Given the description of an element on the screen output the (x, y) to click on. 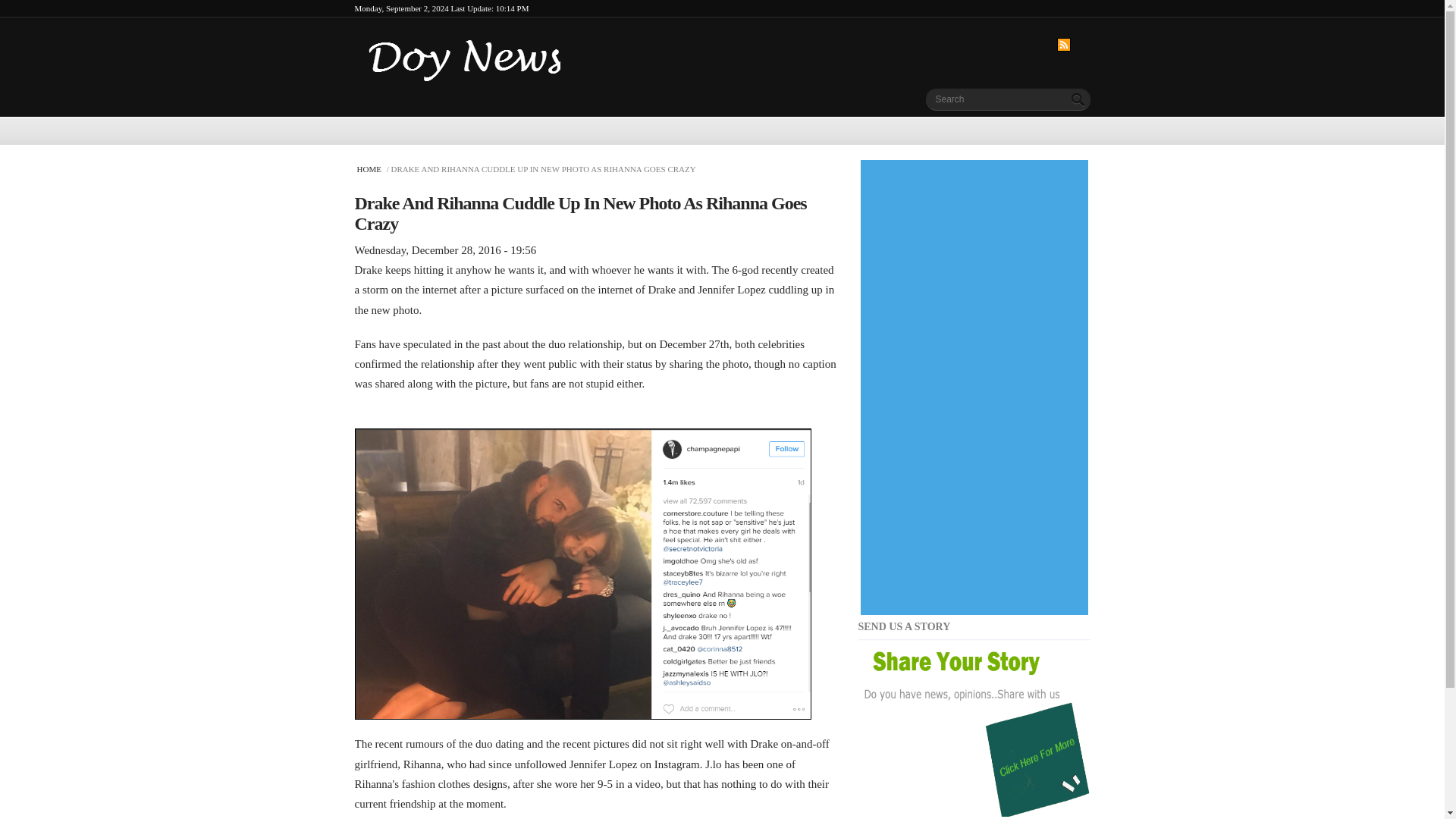
Search (1077, 98)
Enter the terms you wish to search for. (994, 97)
HOME (370, 168)
Search (1077, 98)
Return to the Doy News home page (467, 46)
